Given the description of an element on the screen output the (x, y) to click on. 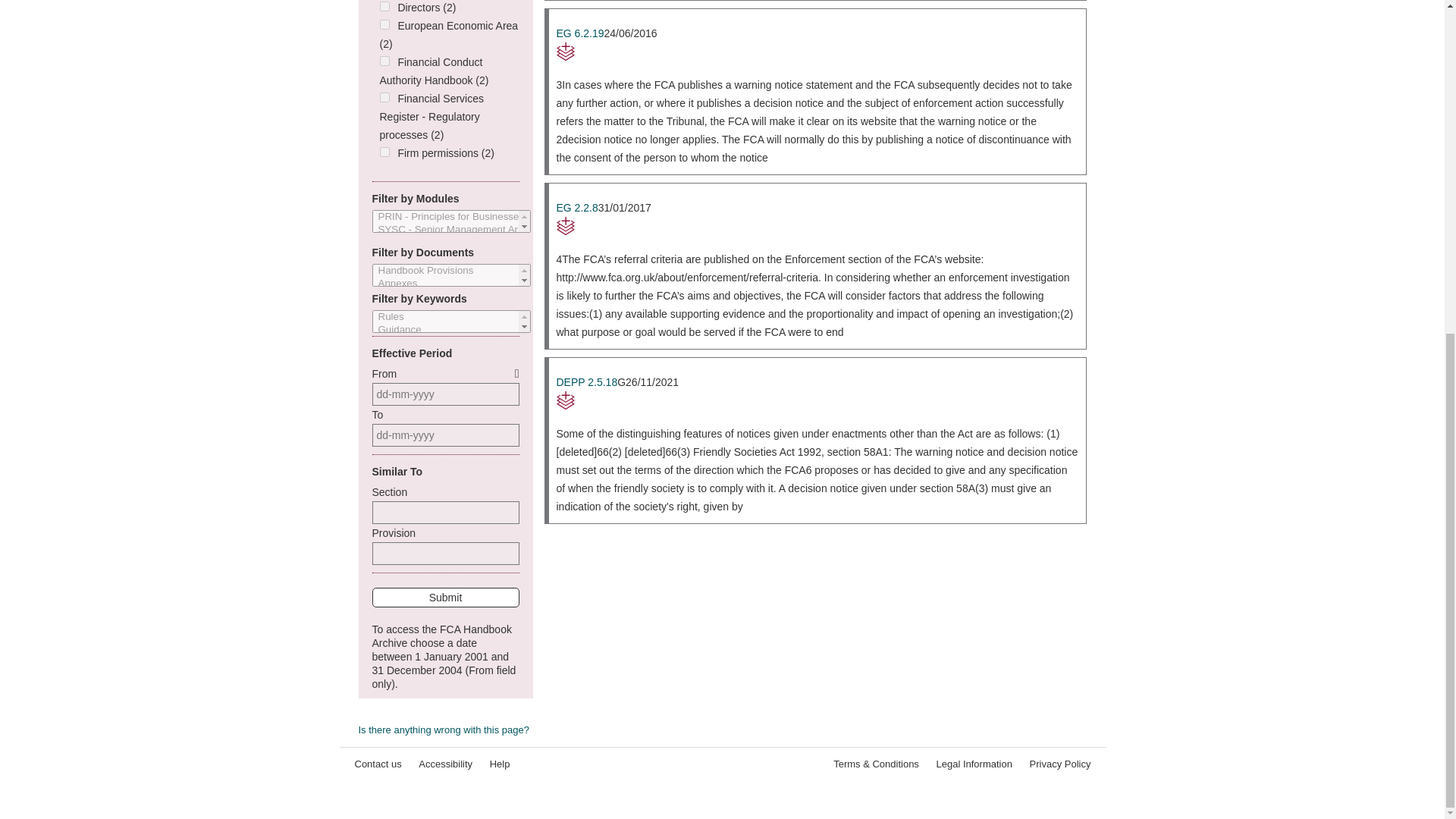
RP (817, 51)
Related Provisions (817, 226)
Related Provisions (817, 51)
Directors (383, 6)
Search Archive Handbook (444, 656)
Related Provisions (817, 400)
Submit (444, 597)
EG 6.2.19 (580, 33)
